Given the description of an element on the screen output the (x, y) to click on. 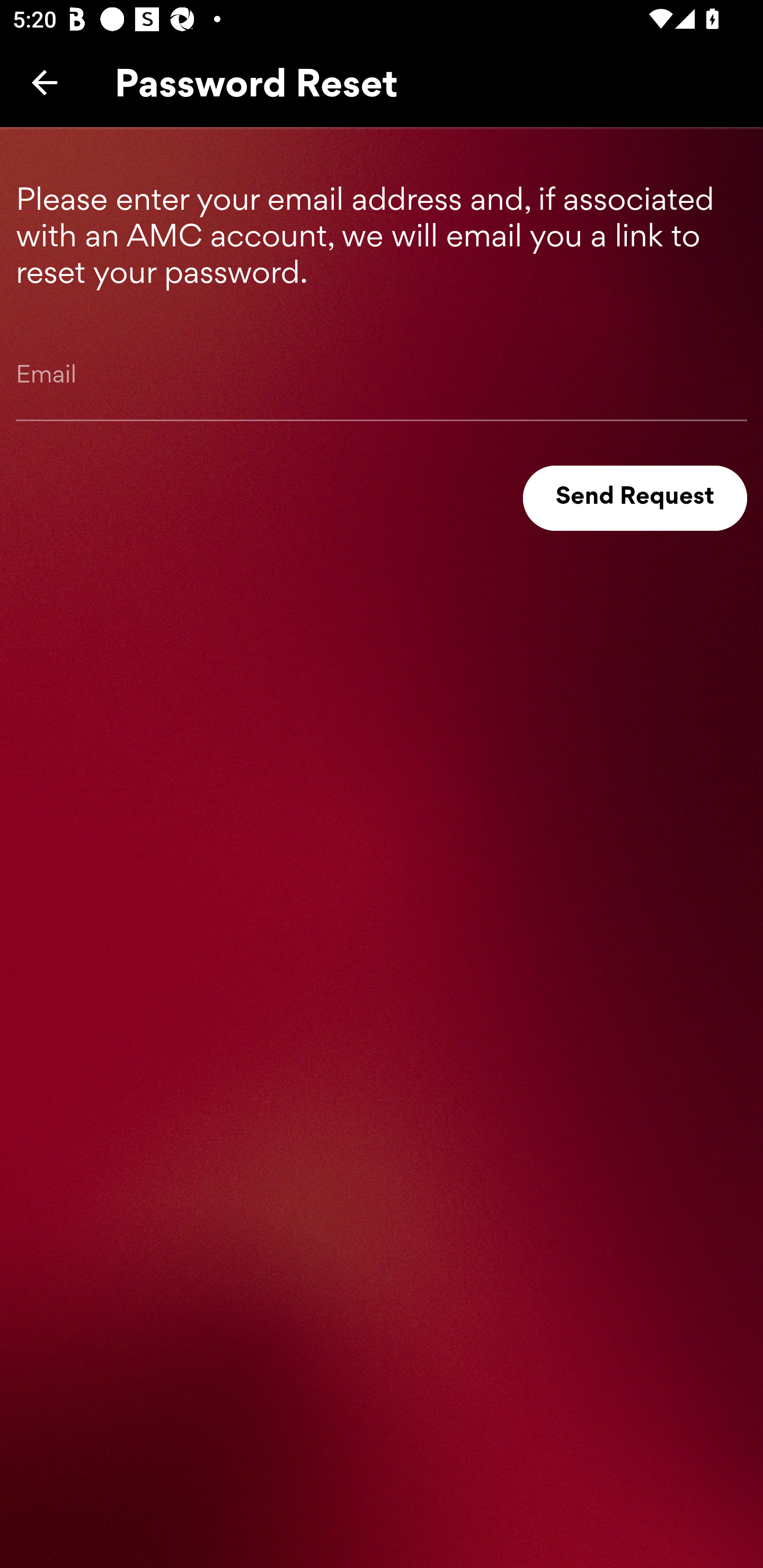
Back (44, 82)
Send Request (634, 498)
